Given the description of an element on the screen output the (x, y) to click on. 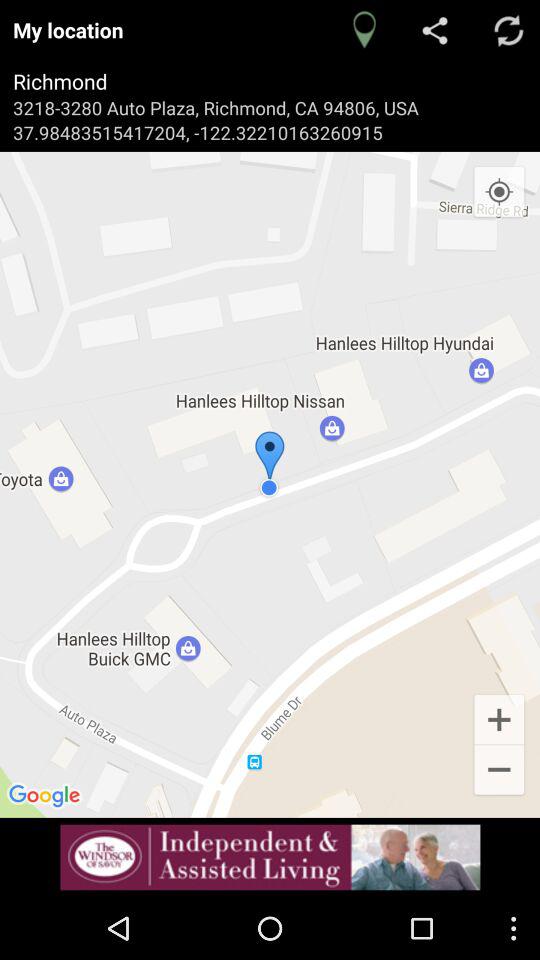
sharing icon (436, 29)
